Given the description of an element on the screen output the (x, y) to click on. 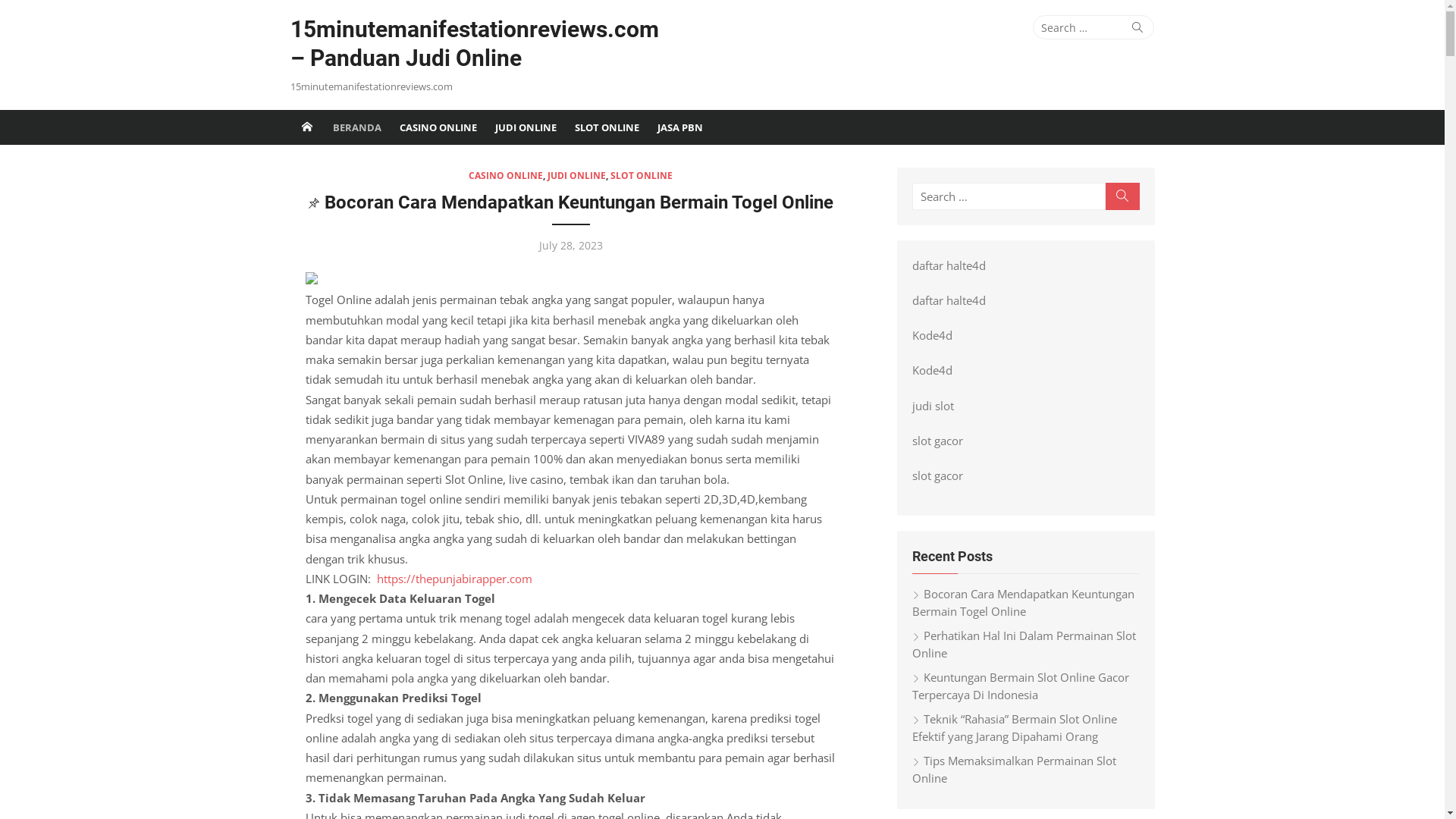
Tips Memaksimalkan Permainan Slot Online Element type: text (1013, 769)
JUDI ONLINE Element type: text (576, 175)
daftar halte4d Element type: text (948, 265)
BERANDA Element type: text (356, 126)
Kode4d Element type: text (931, 369)
slot gacor Element type: text (936, 440)
SLOT ONLINE Element type: text (641, 175)
JUDI ONLINE Element type: text (524, 126)
slot gacor Element type: text (936, 475)
https://thepunjabirapper.com Element type: text (453, 578)
JASA PBN Element type: text (679, 126)
Bocoran Cara Mendapatkan Keuntungan Bermain Togel Online Element type: text (1022, 602)
judi slot Element type: text (932, 405)
SLOT ONLINE Element type: text (606, 126)
Search Element type: text (1122, 196)
Bocoran Cara Mendapatkan Keuntungan Bermain Togel Online Element type: text (569, 208)
Keuntungan Bermain Slot Online Gacor Terpercaya Di Indonesia Element type: text (1019, 685)
July 28, 2023 Element type: text (570, 245)
CASINO ONLINE Element type: text (437, 126)
CASINO ONLINE Element type: text (505, 175)
Perhatikan Hal Ini Dalam Permainan Slot Online Element type: text (1023, 643)
Search Element type: text (1137, 27)
daftar halte4d Element type: text (948, 299)
Kode4d Element type: text (931, 334)
